Given the description of an element on the screen output the (x, y) to click on. 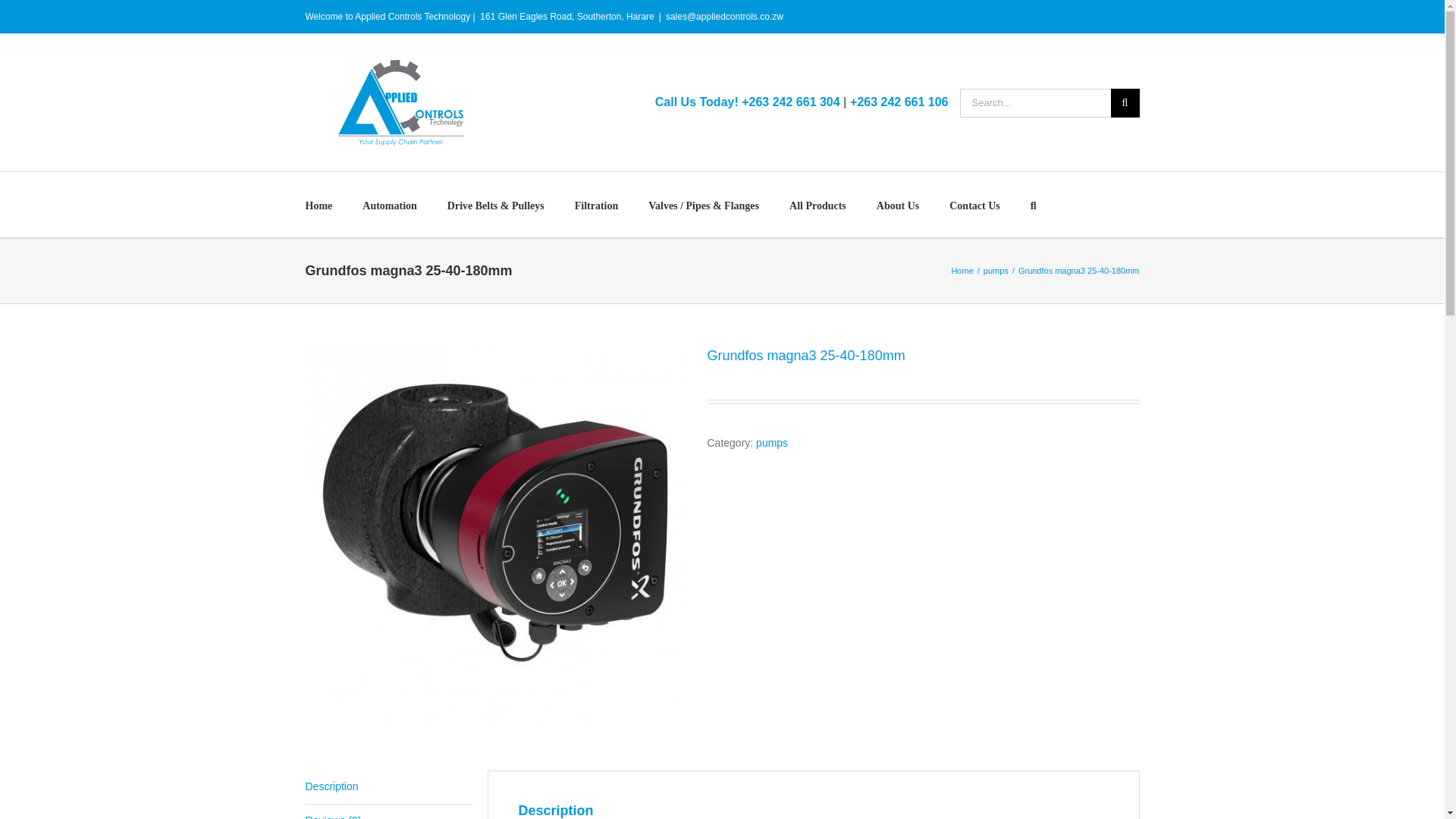
pumps (996, 270)
Description (387, 787)
Home (961, 270)
pumps (771, 442)
